Given the description of an element on the screen output the (x, y) to click on. 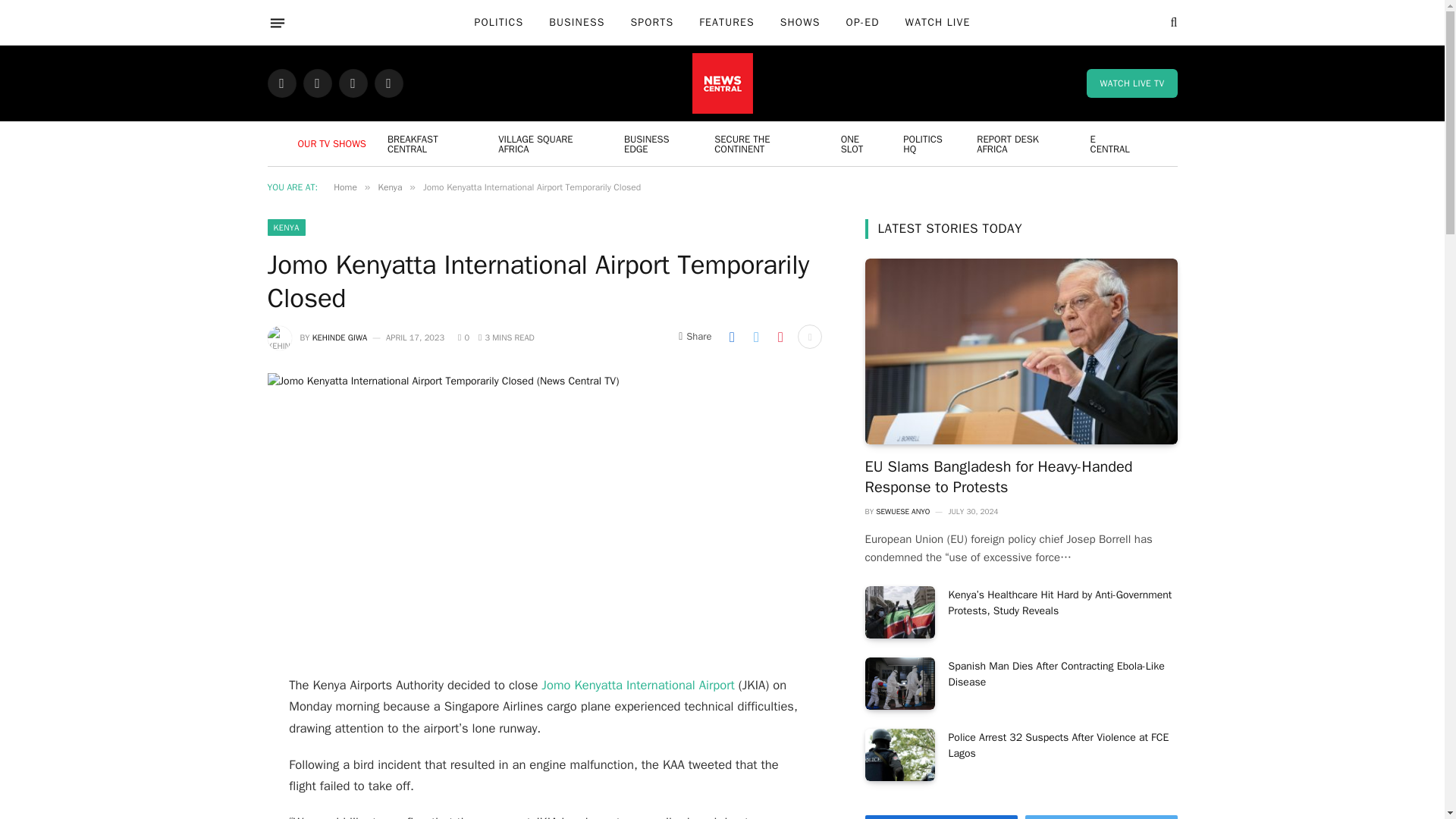
Show More Social Sharing (809, 336)
KEHINDE GIWA (339, 337)
Facebook (280, 82)
Share on Pinterest (780, 336)
SECURE THE CONTINENT (766, 143)
KENYA (285, 227)
POLITICS (499, 22)
Posts by Kehinde Giwa (339, 337)
WATCH LIVE TV (1131, 82)
Share on Facebook (731, 336)
Home (344, 186)
WATCH LIVE (938, 22)
YouTube (388, 82)
0 (463, 337)
FEATURES (726, 22)
